Given the description of an element on the screen output the (x, y) to click on. 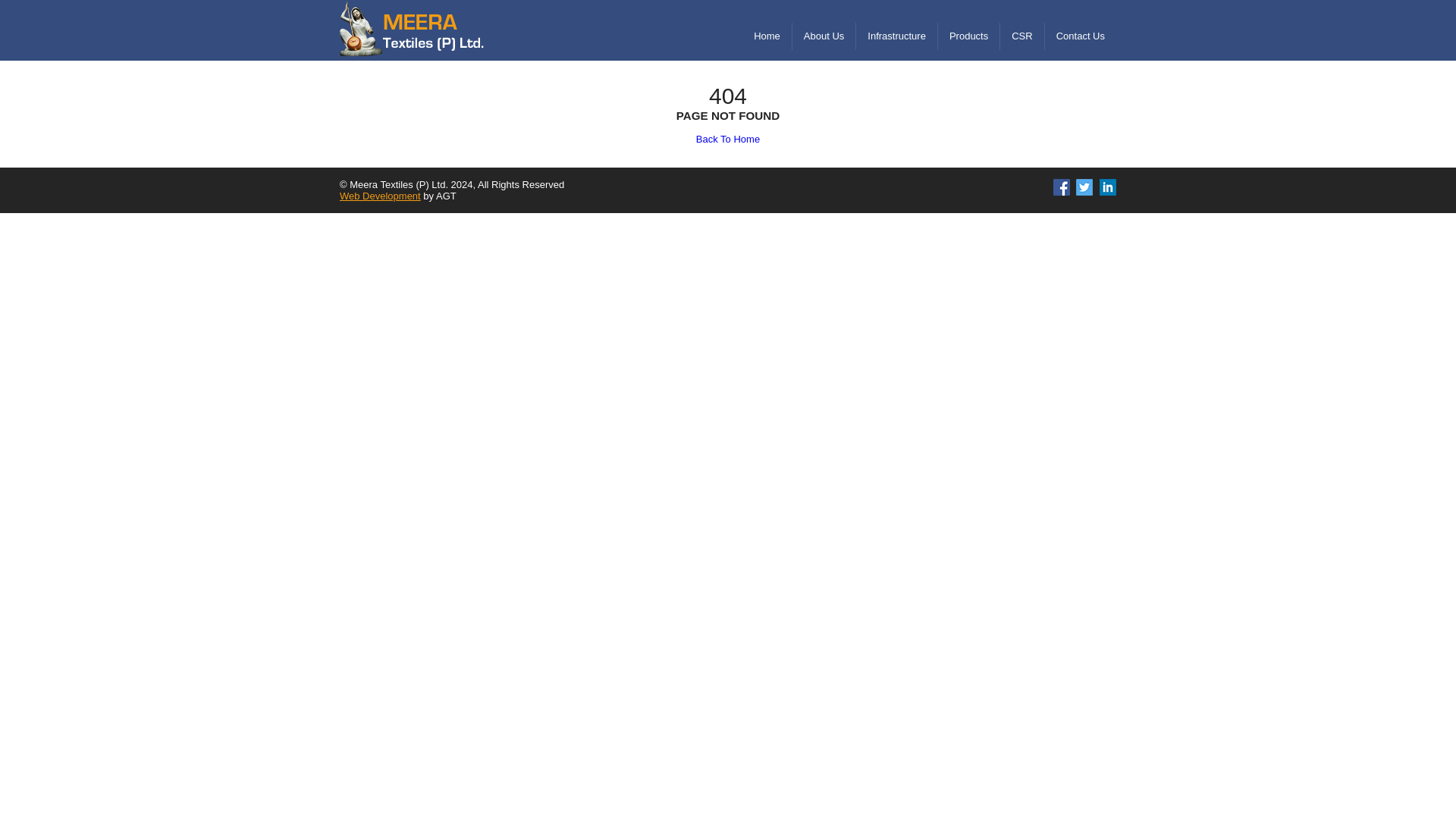
Back To Home (727, 138)
Home (767, 35)
About Us (824, 35)
Web Development (379, 195)
Contact Us (1080, 35)
CSR (1021, 35)
Products (967, 35)
Infrastructure (896, 35)
